Given the description of an element on the screen output the (x, y) to click on. 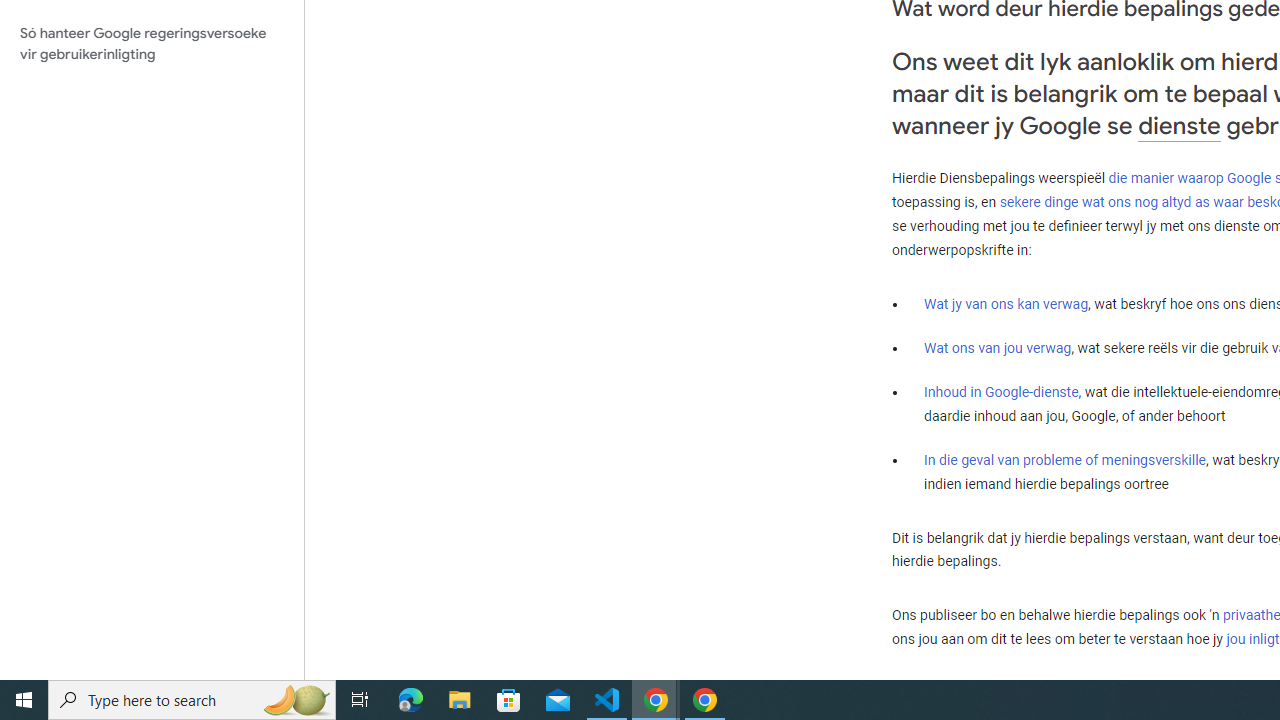
Wat jy van ons kan verwag (1006, 304)
Wat ons van jou verwag (998, 348)
dienste (1179, 125)
Inhoud in Google-dienste (1001, 392)
In die geval van probleme of meningsverskille (1064, 459)
